Given the description of an element on the screen output the (x, y) to click on. 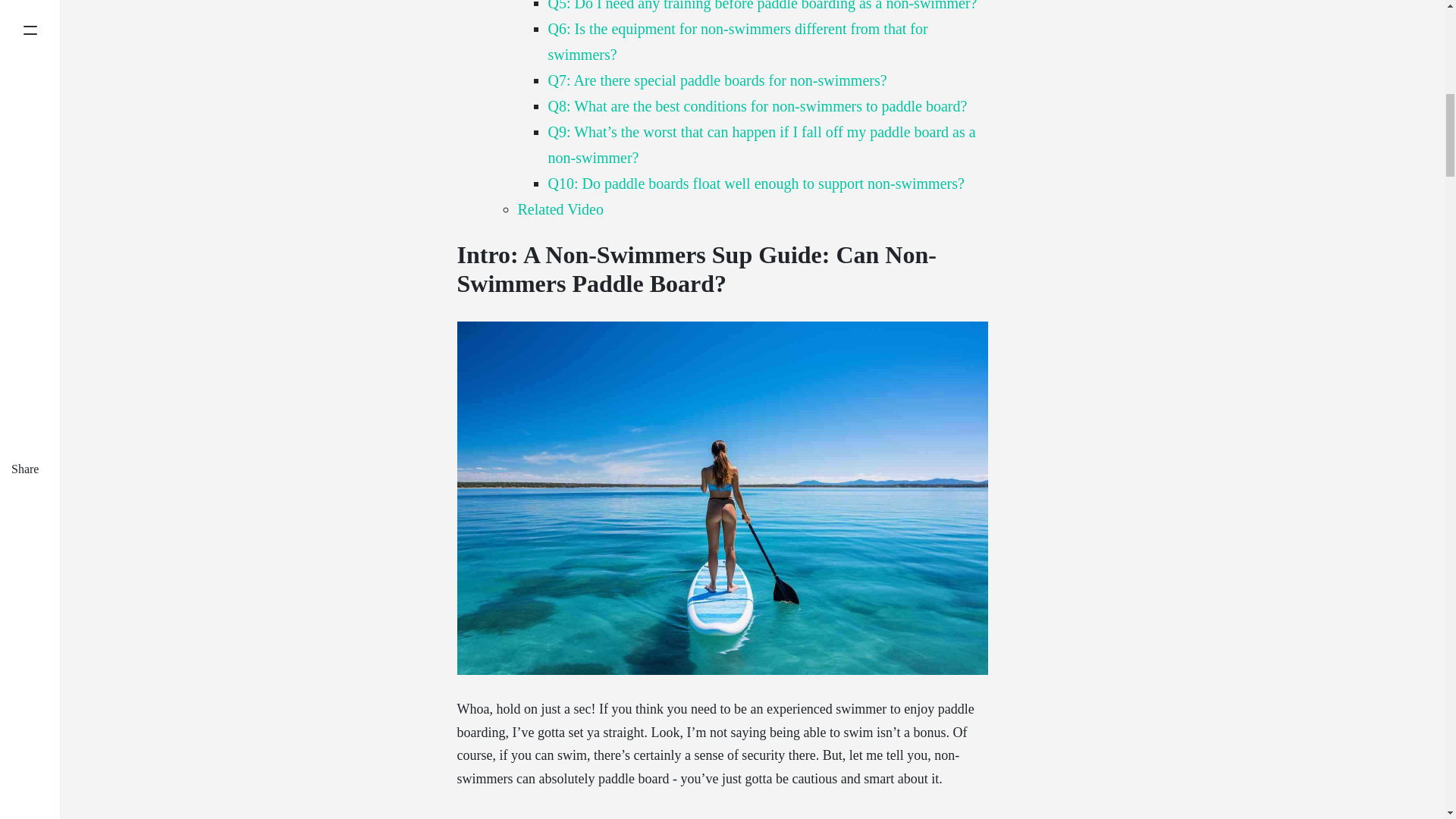
Related Video (559, 208)
Q7: Are there special paddle boards for non-swimmers? (716, 80)
